Given the description of an element on the screen output the (x, y) to click on. 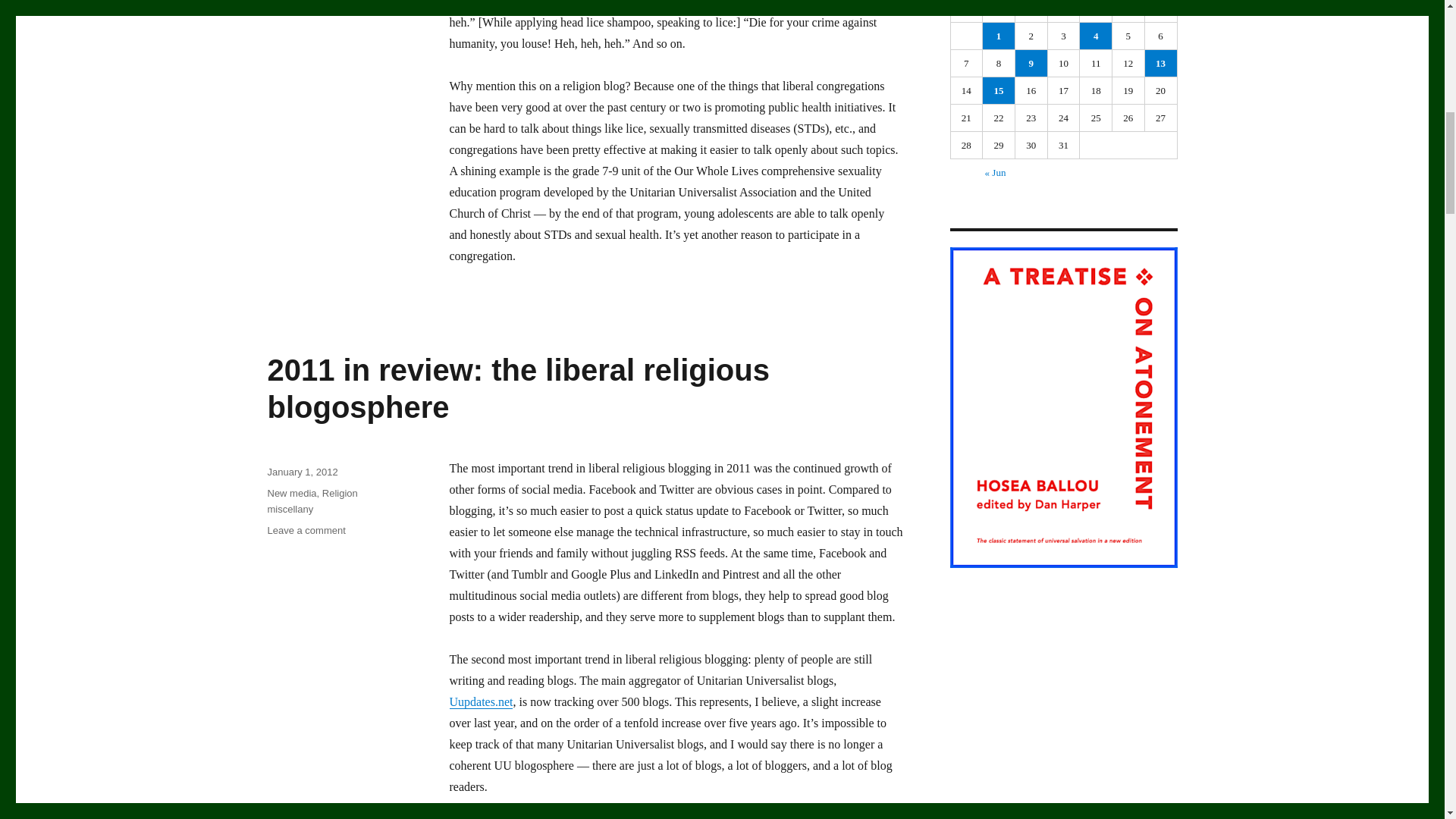
Tuesday (1031, 11)
Friday (1128, 11)
Thursday (1096, 11)
2011 in review: the liberal religious blogosphere (517, 388)
Sunday (967, 11)
Religion miscellany (311, 501)
January 1, 2012 (301, 471)
Saturday (1160, 11)
Uupdates.net (480, 701)
Monday (998, 11)
New media (290, 492)
Wednesday (1064, 11)
